Given the description of an element on the screen output the (x, y) to click on. 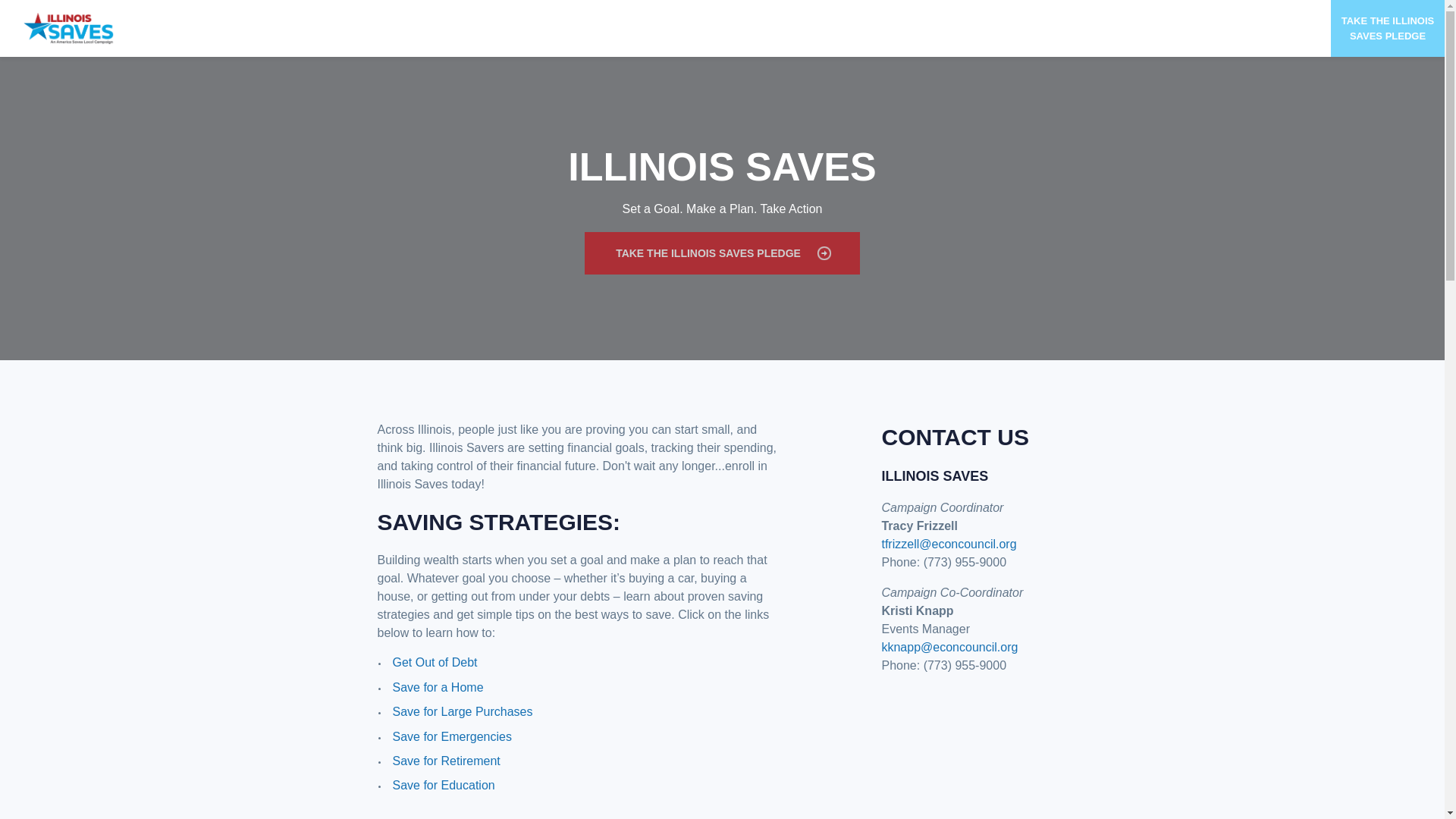
Save for Large Purchases (461, 711)
Save for a Home (437, 686)
Get Out of Debt (434, 662)
Save for Emergencies (451, 736)
Save for Education (443, 784)
TAKE THE ILLINOIS SAVES PLEDGE (722, 252)
Save for Retirement (445, 760)
